Given the description of an element on the screen output the (x, y) to click on. 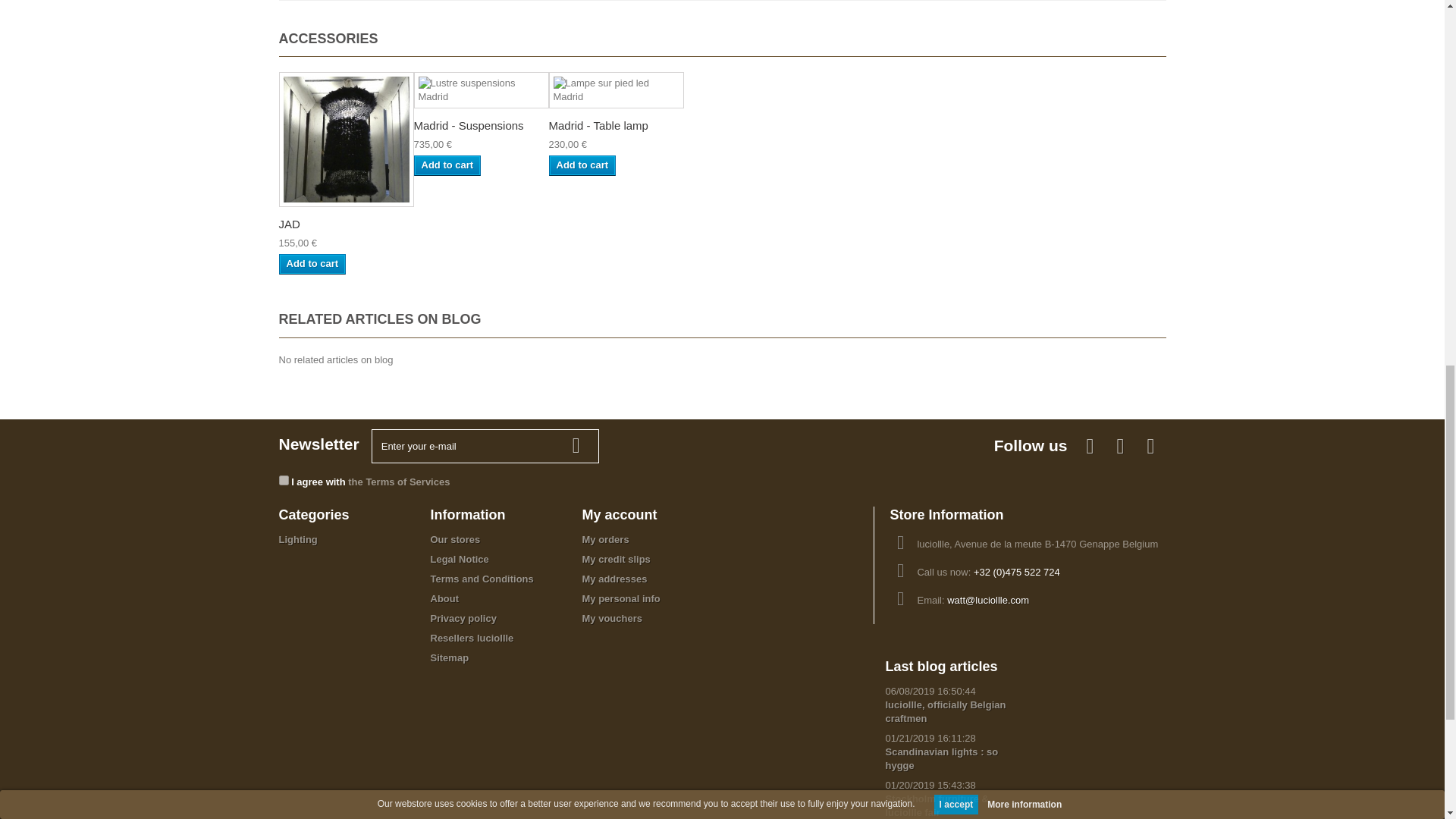
1 (283, 480)
Enter your e-mail (484, 446)
